Given the description of an element on the screen output the (x, y) to click on. 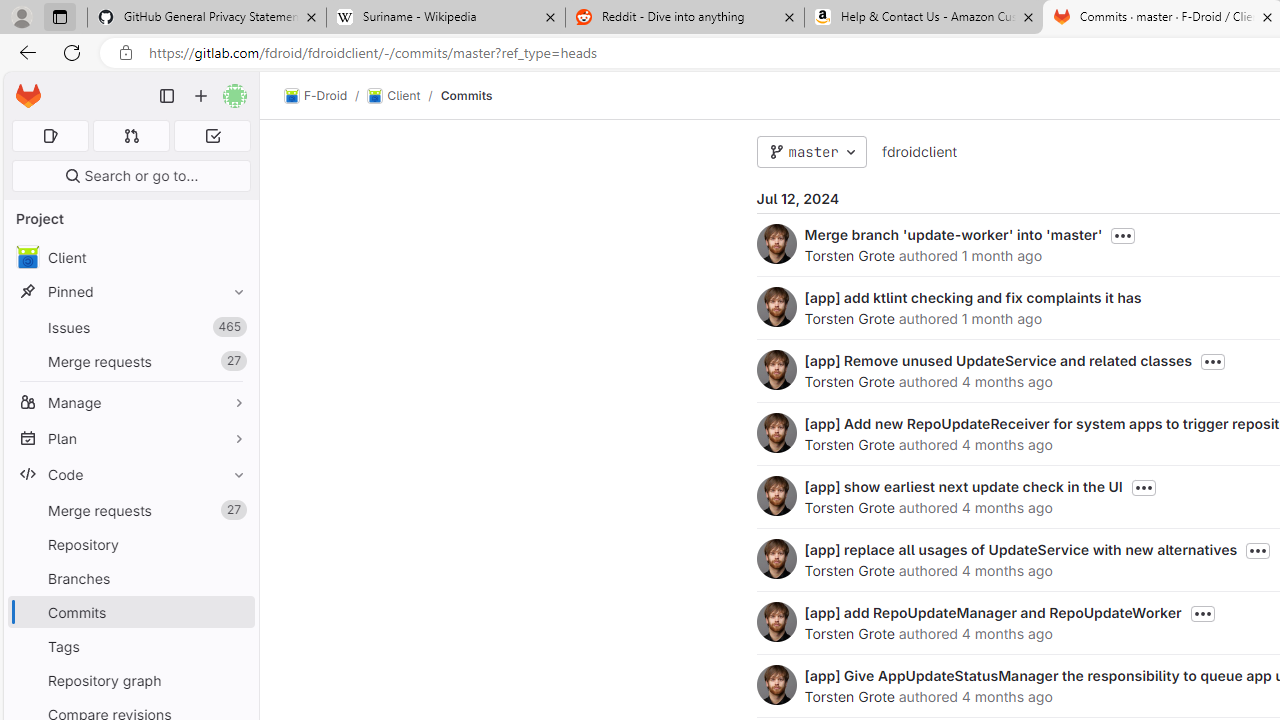
GitHub General Privacy Statement - GitHub Docs (207, 17)
Merge requests27 (130, 510)
master (811, 151)
Pinned (130, 291)
Issues465 (130, 327)
